Given the description of an element on the screen output the (x, y) to click on. 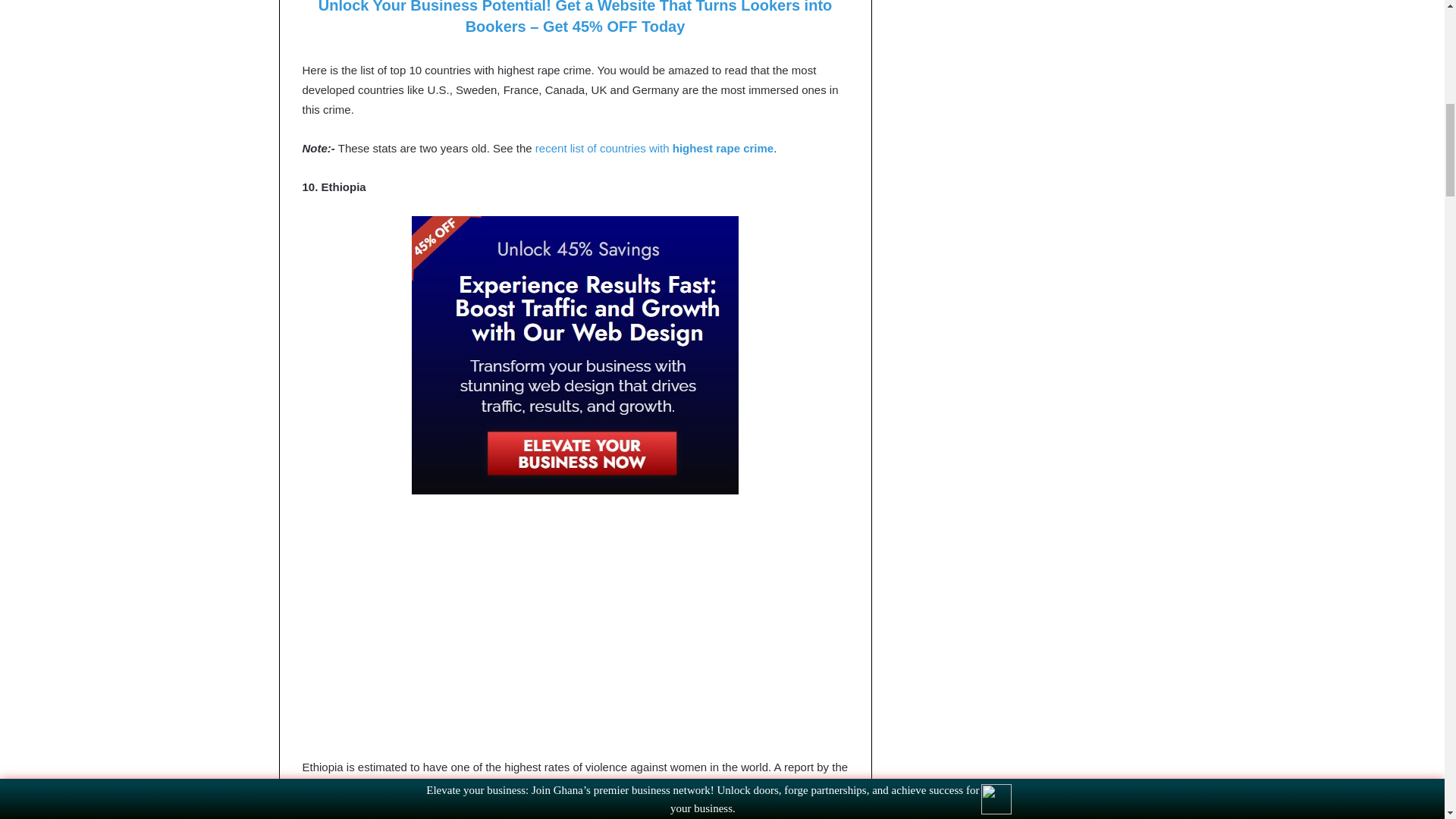
Outstanding Website (575, 354)
Top 10 Countries With Maximum Rape Crimes (654, 147)
Top 10 Countries With Highest Rape Crime 8 (575, 355)
recent list of countries with highest rape crime (654, 147)
